Given the description of an element on the screen output the (x, y) to click on. 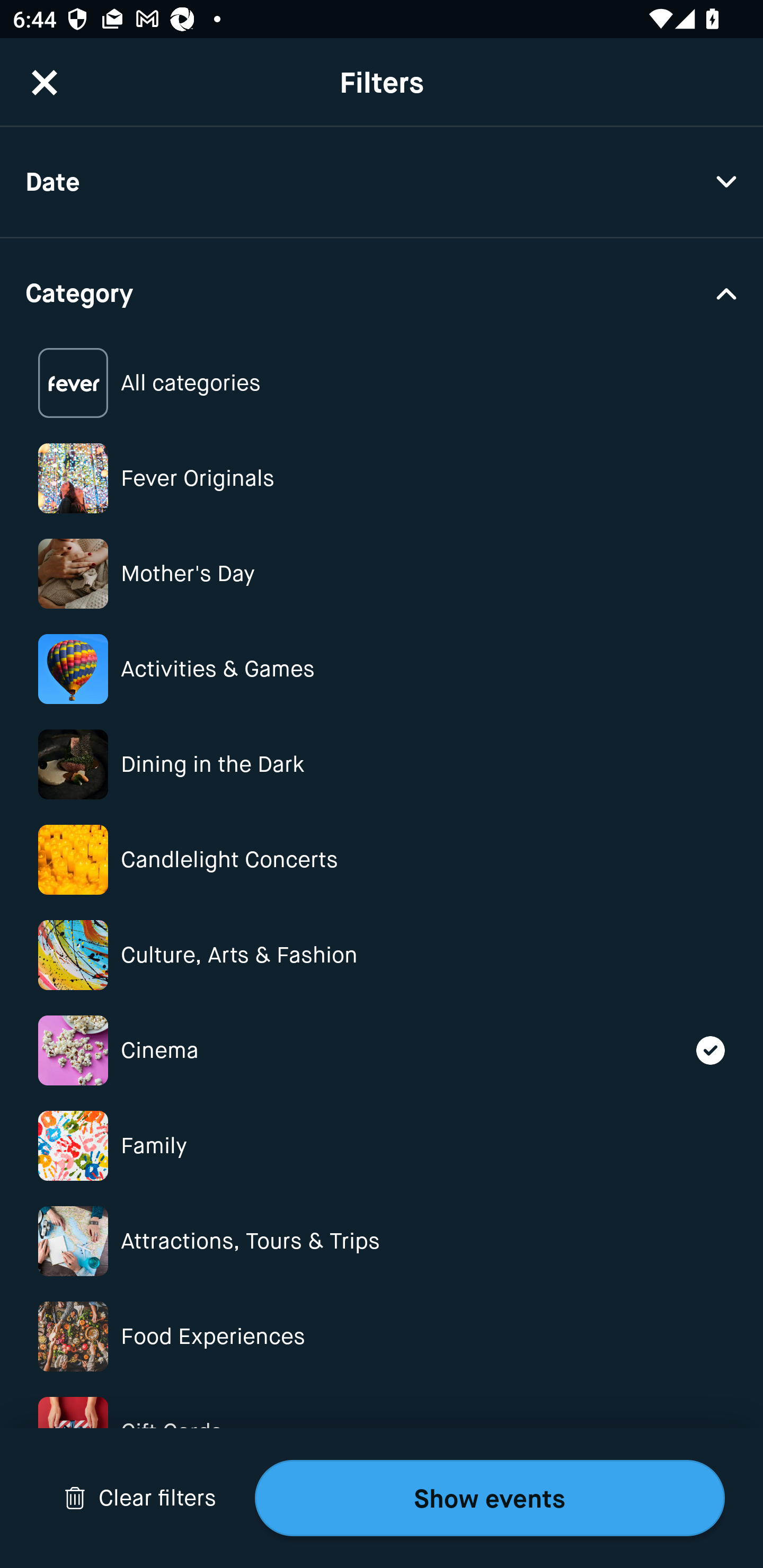
CloseButton (44, 82)
Date Drop Down Arrow (381, 182)
Category Drop Down Arrow (381, 291)
Category Image All categories (381, 382)
Category Image Fever Originals (381, 477)
Category Image Mother's Day (381, 573)
Category Image Activities & Games (381, 668)
Category Image Dining in the Dark (381, 763)
Category Image Candlelight Concerts (381, 859)
Category Image Culture, Arts & Fashion (381, 954)
Category Image Cinema Selected Icon (381, 1050)
Category Image Family (381, 1145)
Category Image Attractions, Tours & Trips (381, 1240)
Category Image Food Experiences (381, 1336)
Drop Down Arrow Clear filters (139, 1497)
Show events (489, 1497)
